Given the description of an element on the screen output the (x, y) to click on. 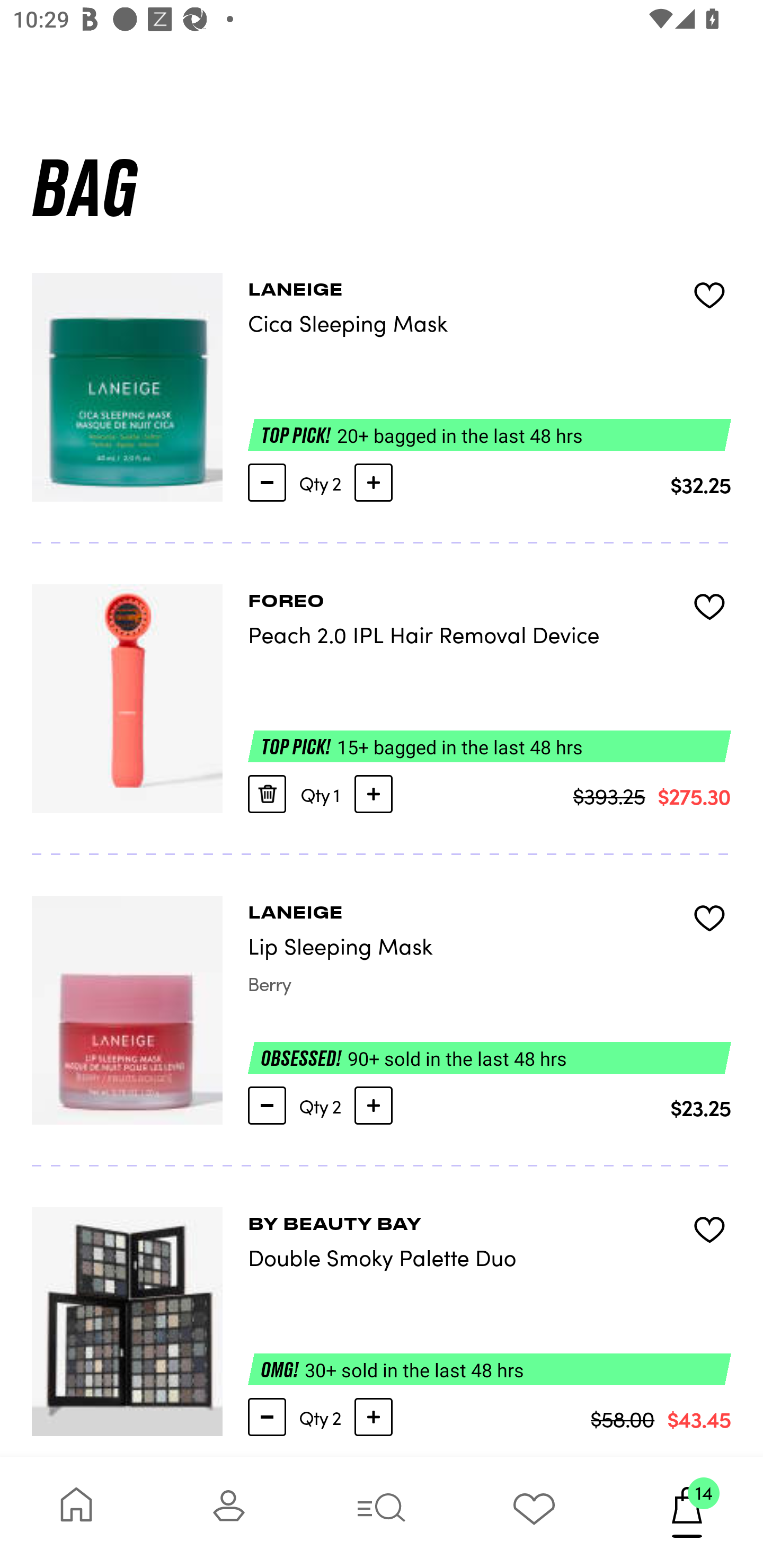
14 (686, 1512)
